Given the description of an element on the screen output the (x, y) to click on. 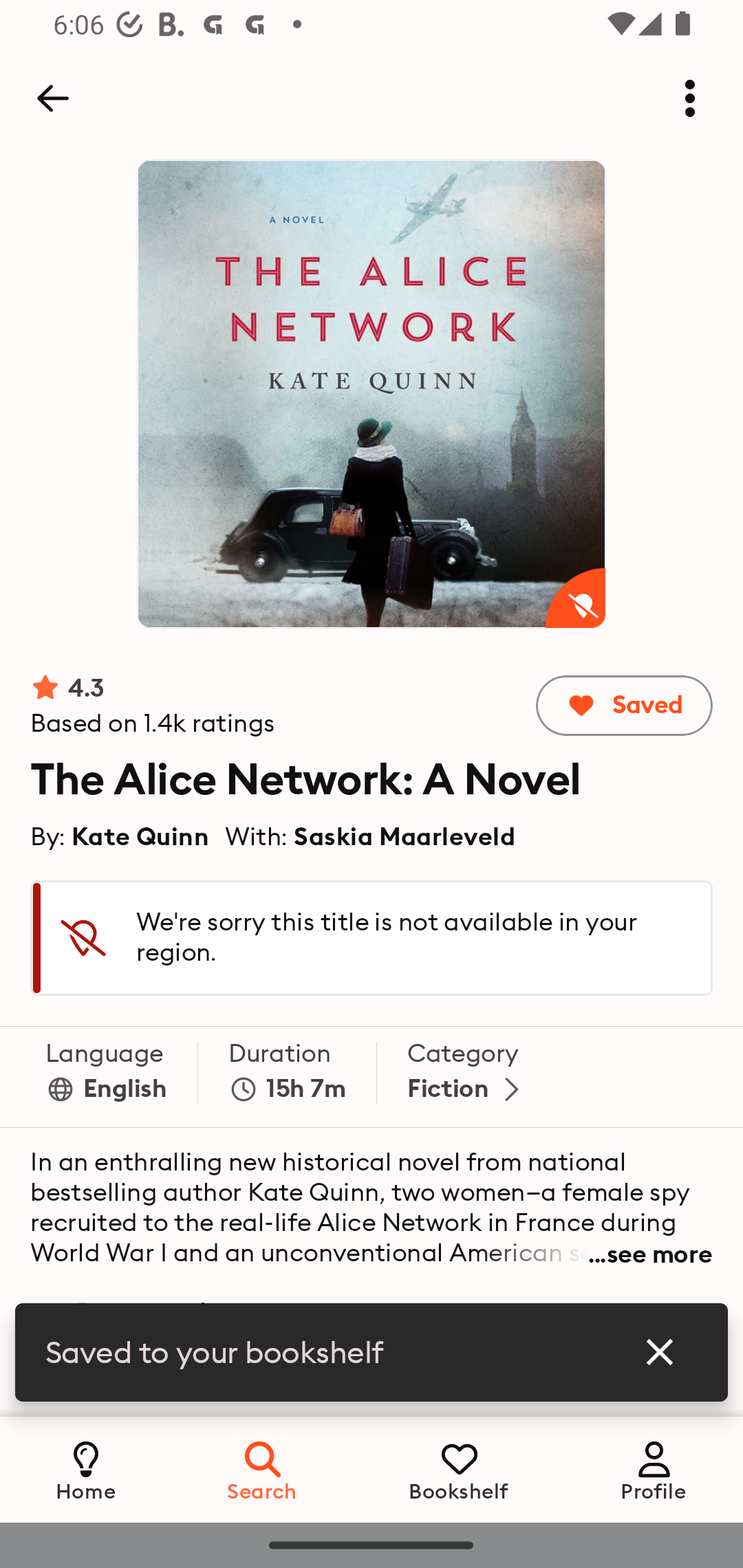
Back (52, 98)
More options (689, 98)
Rating 4.3 stars, out of 1411 ratings (152, 705)
Saved Remove from bookshelf (623, 705)
By: Kate Quinn (119, 835)
With: Saskia Maarleveld (370, 835)
Category Fiction (466, 1077)
Home (85, 1468)
Search (262, 1468)
Bookshelf (458, 1468)
Profile (653, 1468)
